Given the description of an element on the screen output the (x, y) to click on. 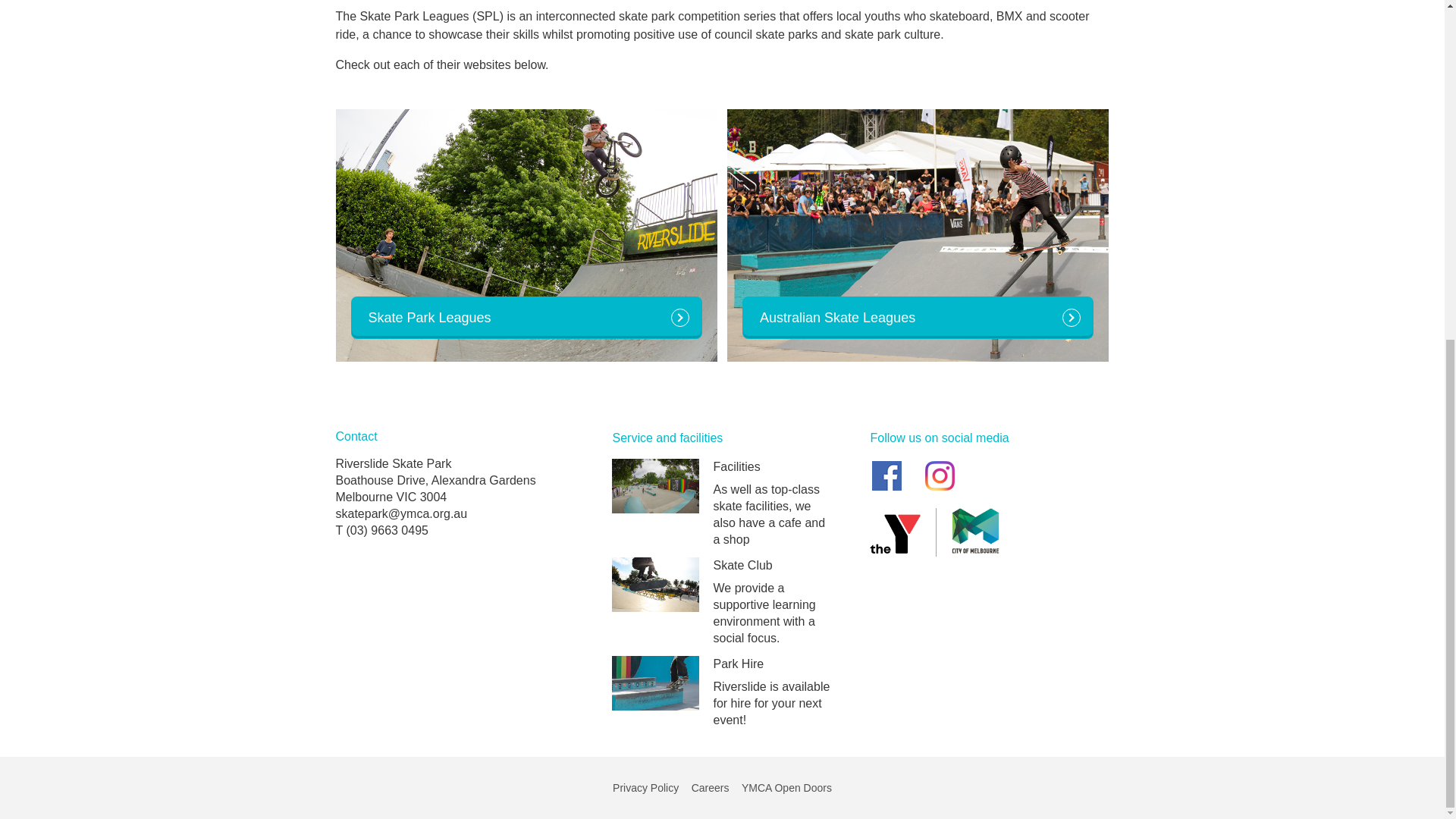
Privacy Policy (645, 787)
Careers (710, 787)
YMCA Open Doors (786, 787)
Australian Skate Leagues (917, 317)
Skate Park Leagues (525, 317)
